Given the description of an element on the screen output the (x, y) to click on. 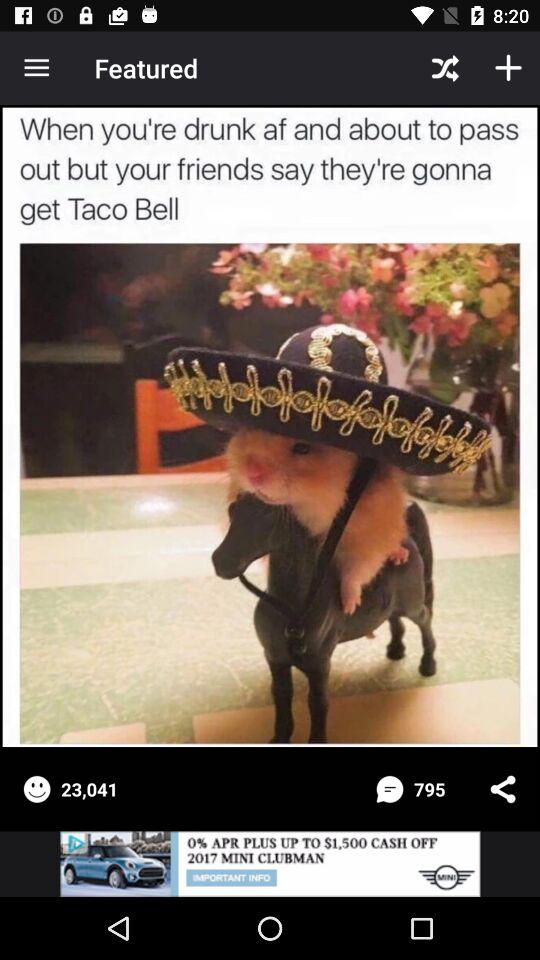
advertisement link (270, 864)
